Given the description of an element on the screen output the (x, y) to click on. 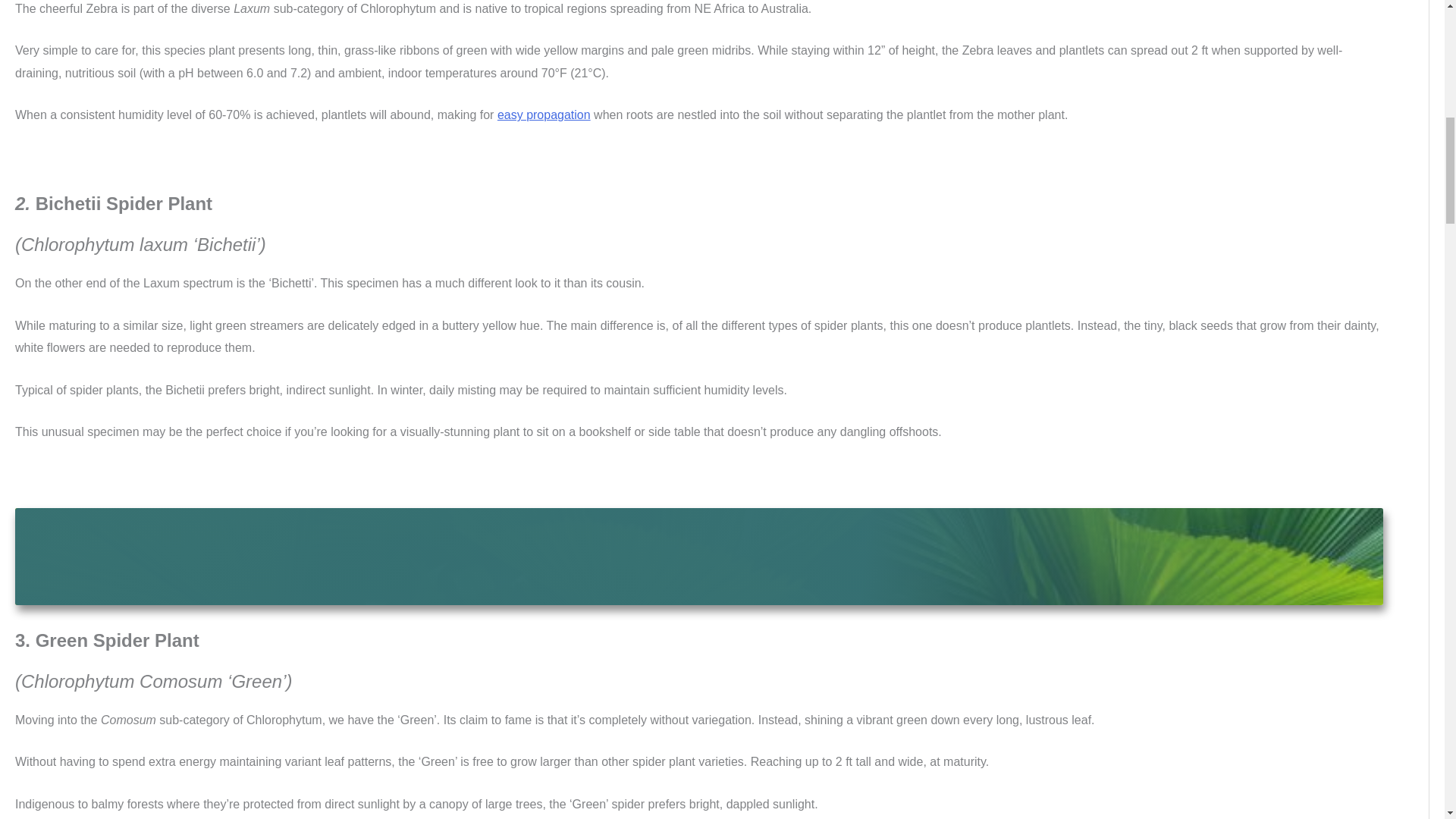
easy propagation (544, 114)
